Given the description of an element on the screen output the (x, y) to click on. 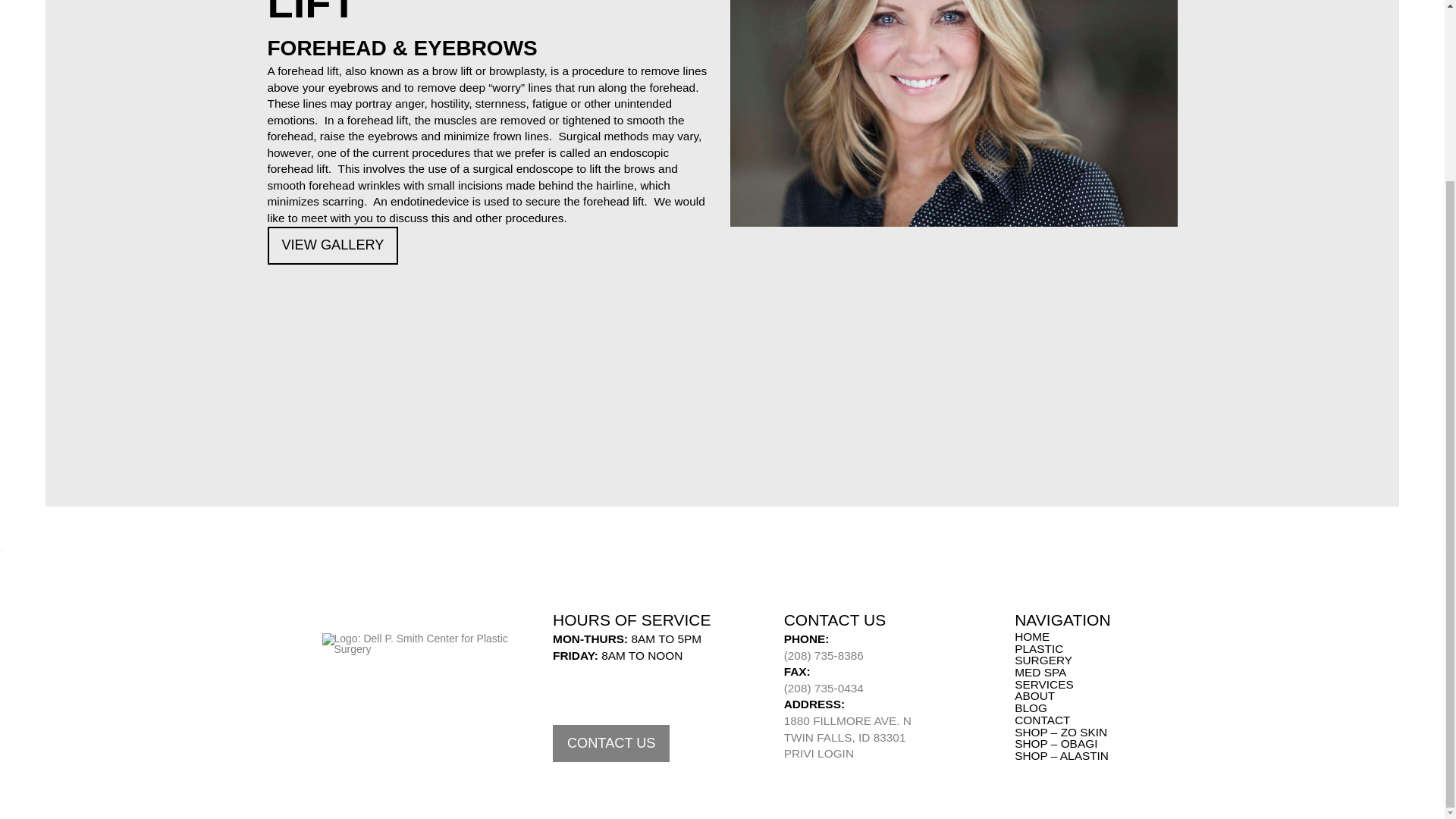
MED SPA SERVICES (847, 728)
HOME (1068, 678)
BLOG (1031, 636)
PLASTIC SURGERY (1030, 707)
CONTACT US (1068, 654)
PRIVI LOGIN (611, 742)
ABOUT (818, 753)
